Given the description of an element on the screen output the (x, y) to click on. 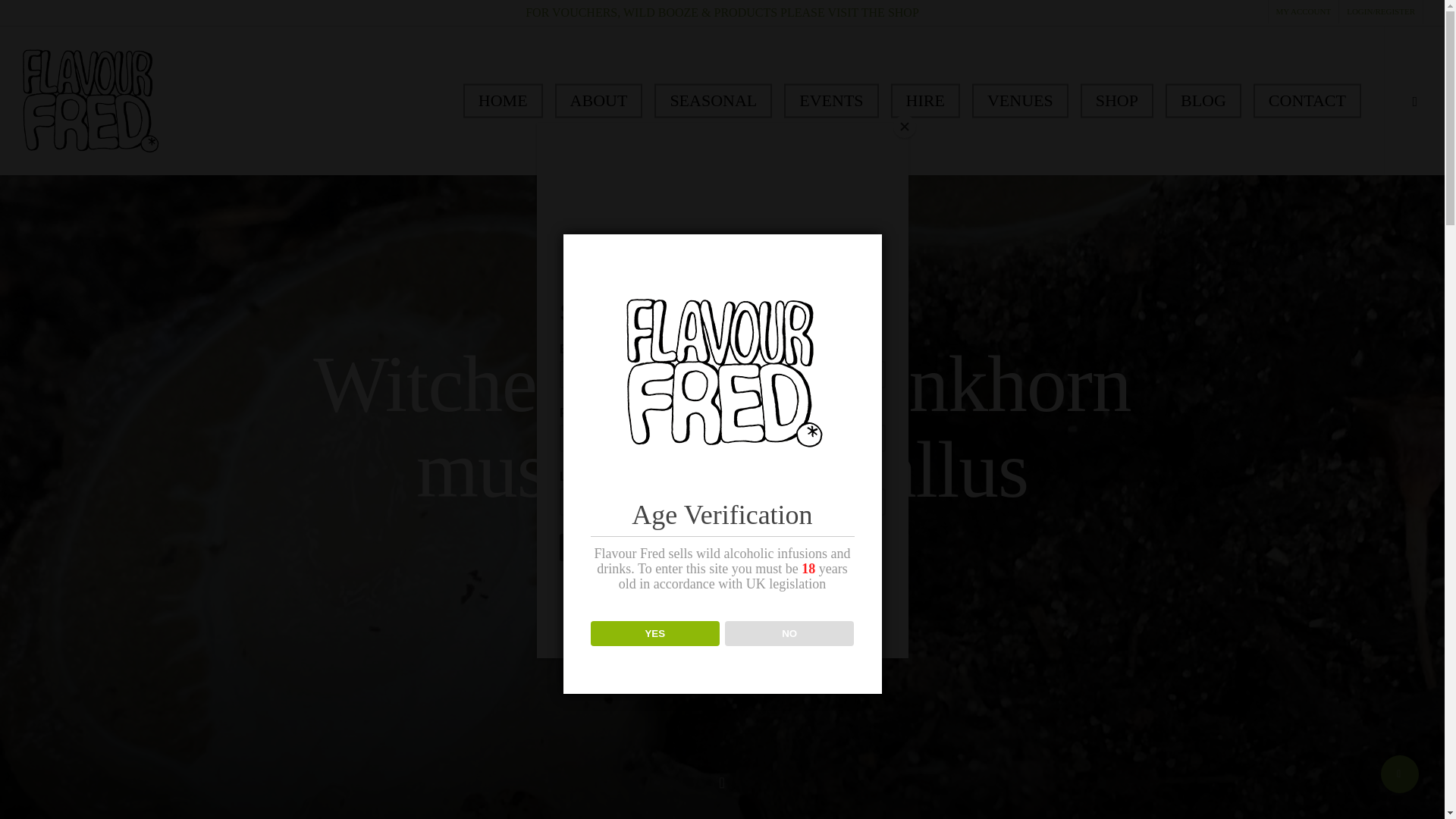
SEASONAL (712, 100)
SHOP (1116, 100)
EVENTS (830, 100)
CONTACT (1307, 100)
MY ACCOUNT (1303, 11)
HOME (503, 100)
george (746, 632)
BLOG (1203, 100)
VENUES (1020, 100)
Posts by george (746, 632)
ABOUT (598, 100)
HIRE (925, 100)
